Given the description of an element on the screen output the (x, y) to click on. 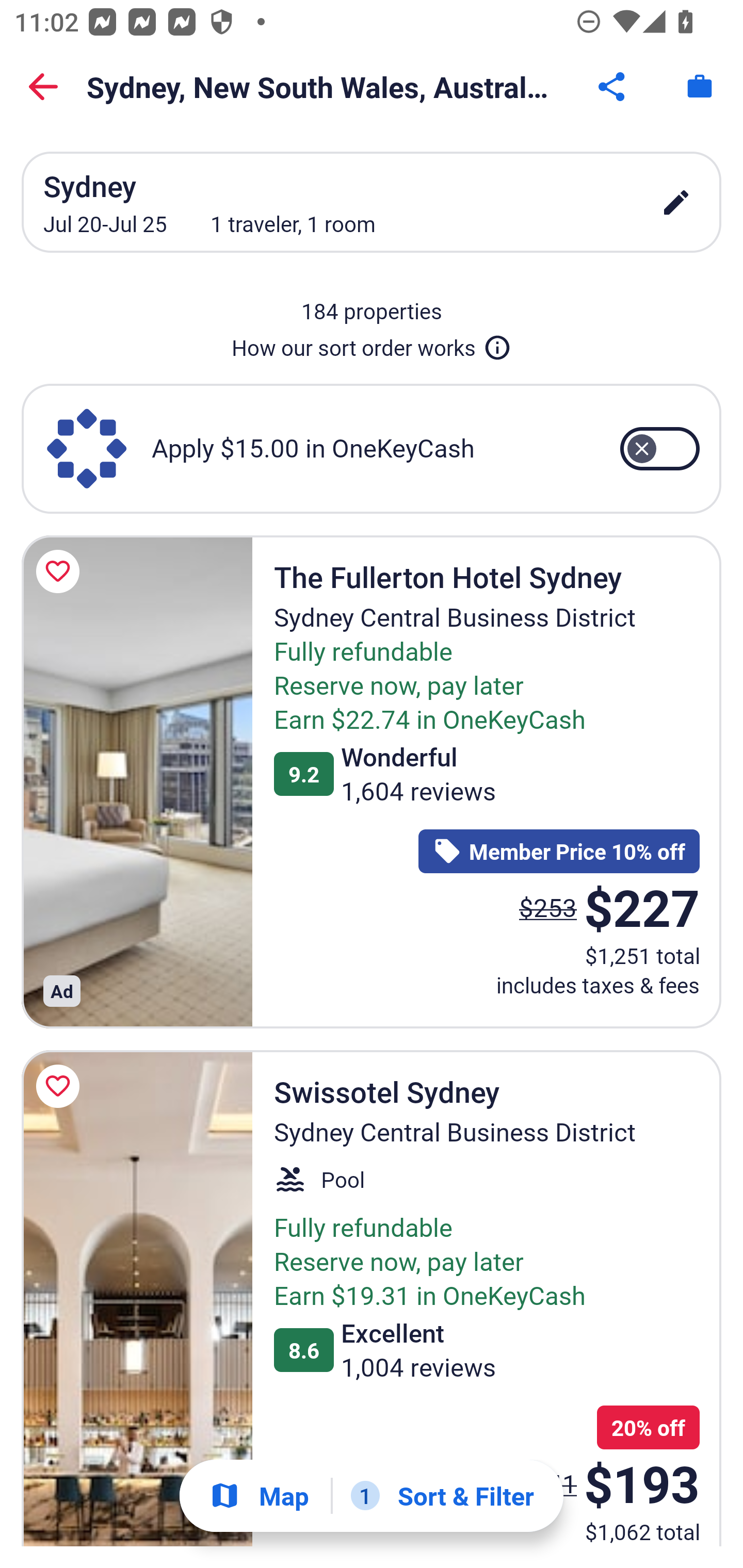
Back (43, 86)
Share Button (612, 86)
Trips. Button (699, 86)
Sydney Jul 20-Jul 25 1 traveler, 1 room edit (371, 202)
How our sort order works (371, 344)
Save The Fullerton Hotel Sydney to a trip (61, 571)
The Fullerton Hotel Sydney (136, 781)
$253 The price was $253 (547, 906)
Save Swissotel Sydney to a trip (61, 1085)
Swissotel Sydney (136, 1298)
1 Sort & Filter 1 Filter applied. Filters Button (442, 1495)
Show map Map Show map Button (258, 1495)
